Given the description of an element on the screen output the (x, y) to click on. 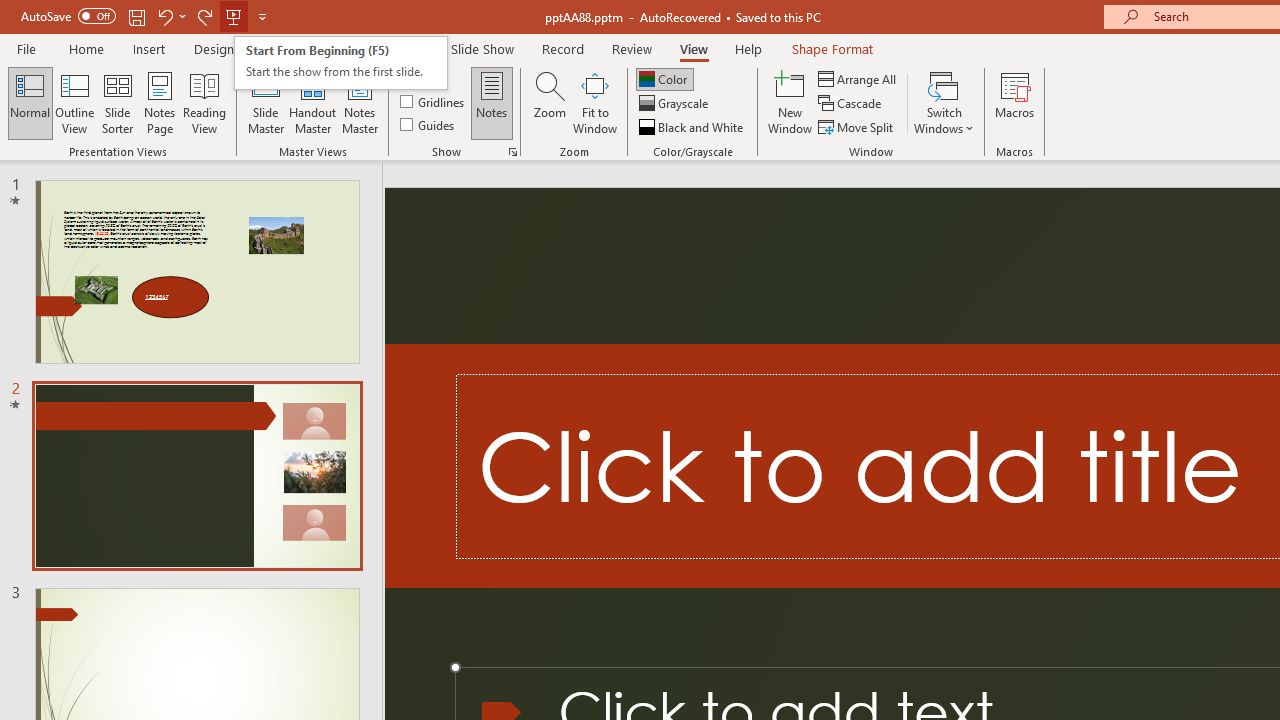
Notes Master (360, 102)
Arrange All (858, 78)
Switch Windows (943, 102)
Notes Page (159, 102)
Guides (428, 124)
Fit to Window (594, 102)
Gridlines (433, 101)
Outline View (74, 102)
